Given the description of an element on the screen output the (x, y) to click on. 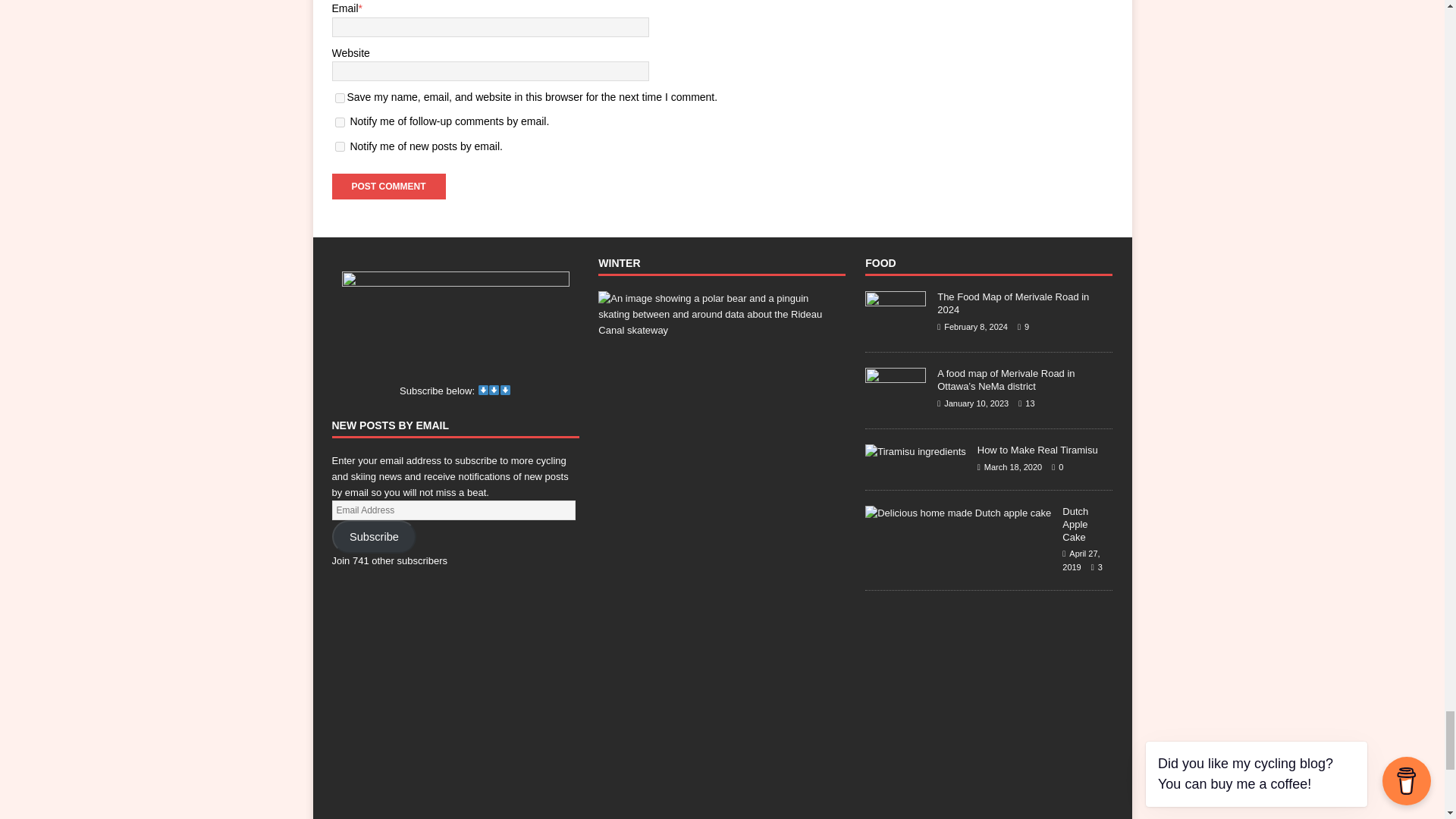
yes (339, 98)
subscribe (339, 122)
Post Comment (388, 186)
subscribe (339, 146)
